Given the description of an element on the screen output the (x, y) to click on. 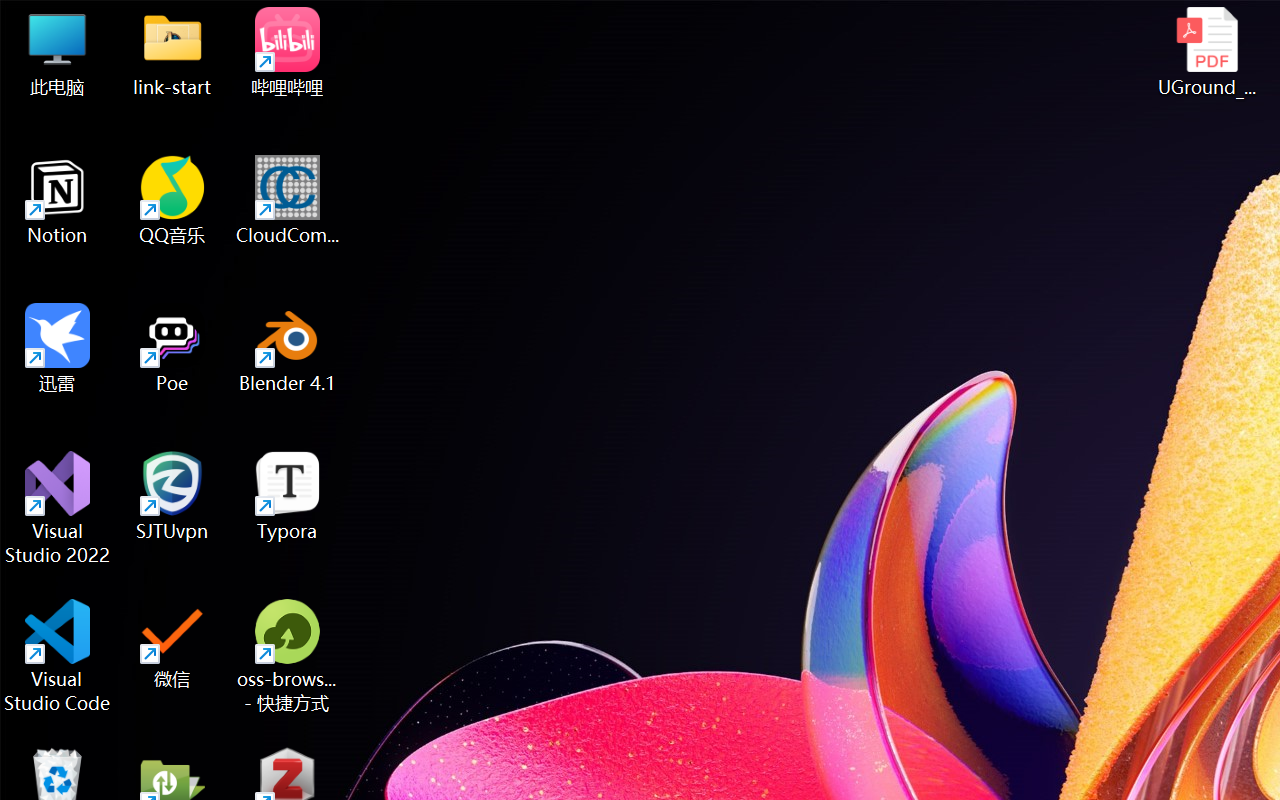
CloudCompare (287, 200)
SJTUvpn (172, 496)
Visual Studio Code (57, 656)
Blender 4.1 (287, 348)
Typora (287, 496)
Visual Studio 2022 (57, 508)
UGround_paper.pdf (1206, 52)
